Given the description of an element on the screen output the (x, y) to click on. 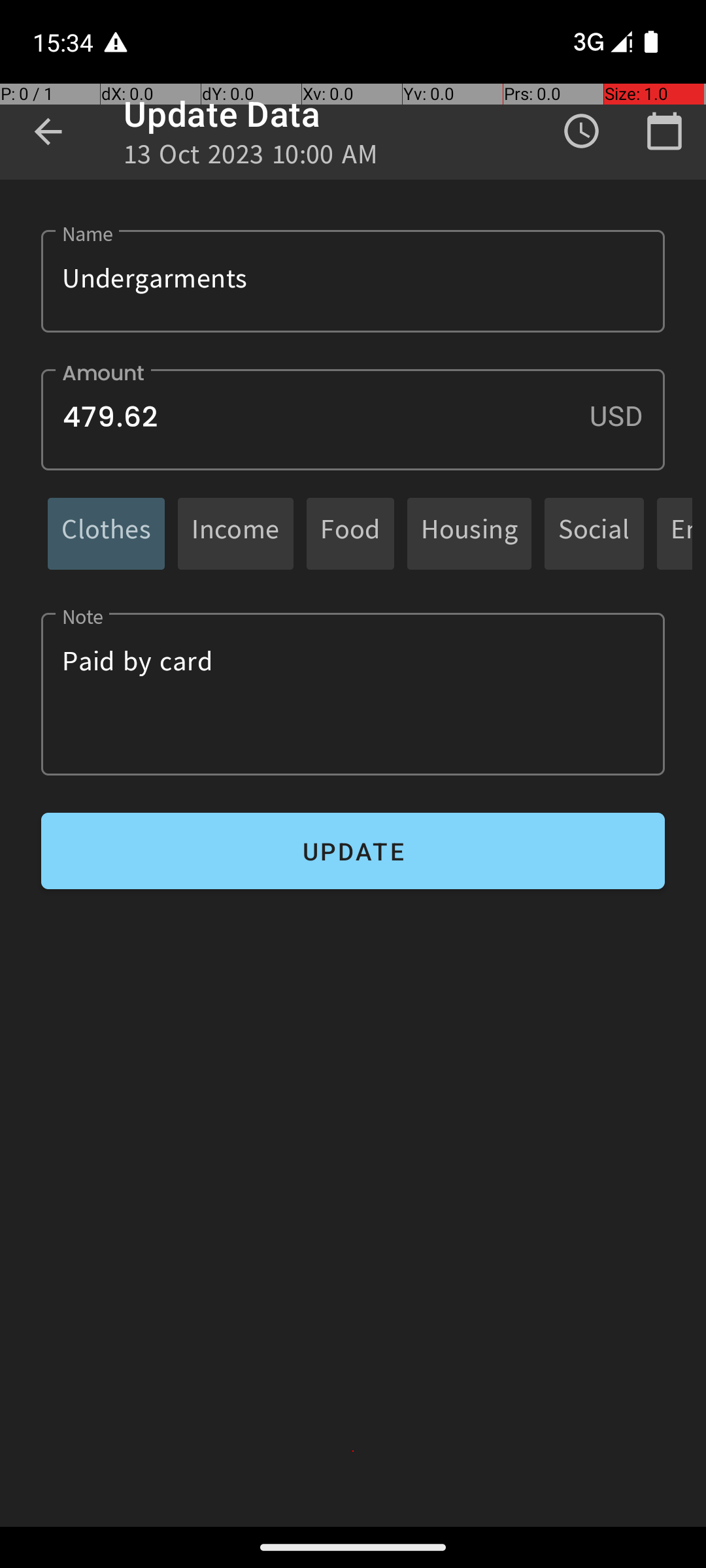
Update Data Element type: android.widget.TextView (221, 113)
13 Oct 2023 10:00 AM Element type: android.widget.TextView (250, 157)
Time Element type: android.widget.TextView (580, 131)
Calendar Element type: android.widget.TextView (664, 131)
Undergarments Element type: android.widget.EditText (352, 280)
479.62 Element type: android.widget.EditText (352, 419)
USD Element type: android.widget.TextView (626, 415)
Paid by card Element type: android.widget.EditText (352, 693)
UPDATE Element type: android.widget.Button (352, 850)
Clothes Element type: android.widget.TextView (106, 533)
Income Element type: android.widget.TextView (235, 533)
Food Element type: android.widget.TextView (350, 533)
Housing Element type: android.widget.TextView (468, 533)
Social Element type: android.widget.TextView (594, 533)
Entertainment Element type: android.widget.TextView (681, 533)
